Given the description of an element on the screen output the (x, y) to click on. 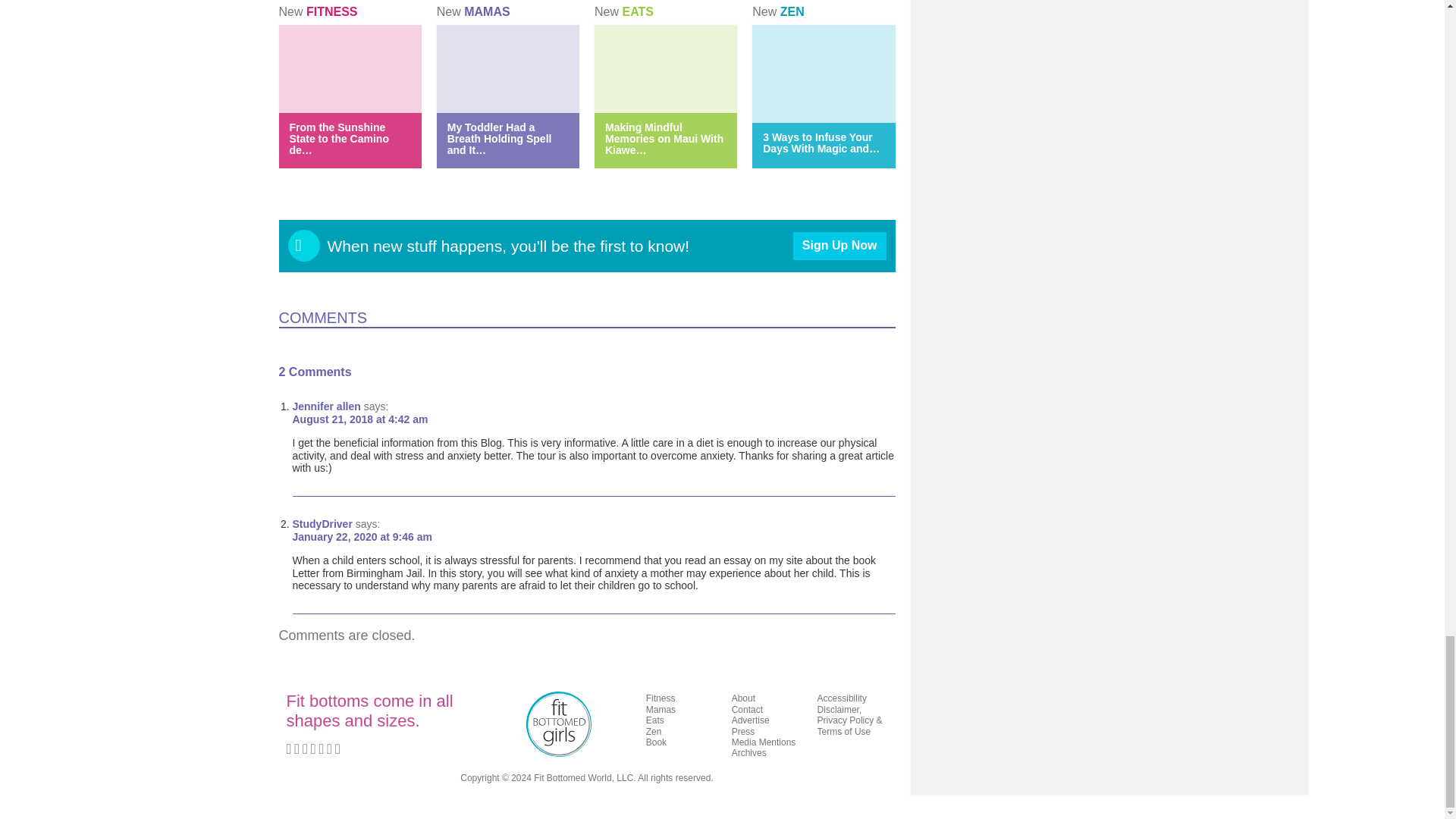
3 Ways to Infuse Your Days With Magic and Meaning (820, 142)
Making Mindful Memories on Maui With Kiawe Outdoor (664, 138)
From the Sunshine State to the Camino de Santiago (338, 138)
My Toddler Had a Breath Holding Spell and It Was Scary AF (498, 138)
